Given the description of an element on the screen output the (x, y) to click on. 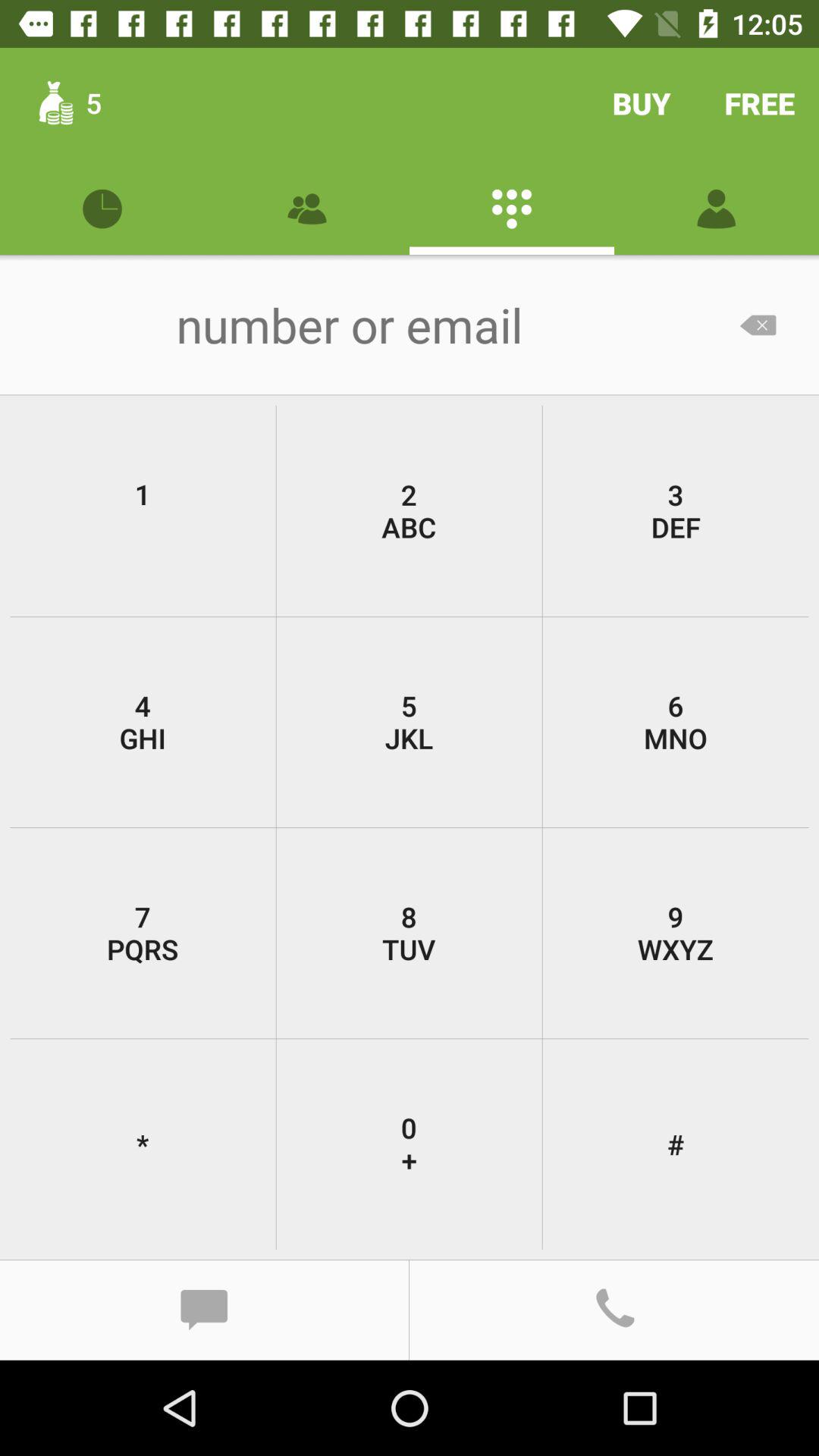
choose the item next to 2
abc (675, 510)
